Given the description of an element on the screen output the (x, y) to click on. 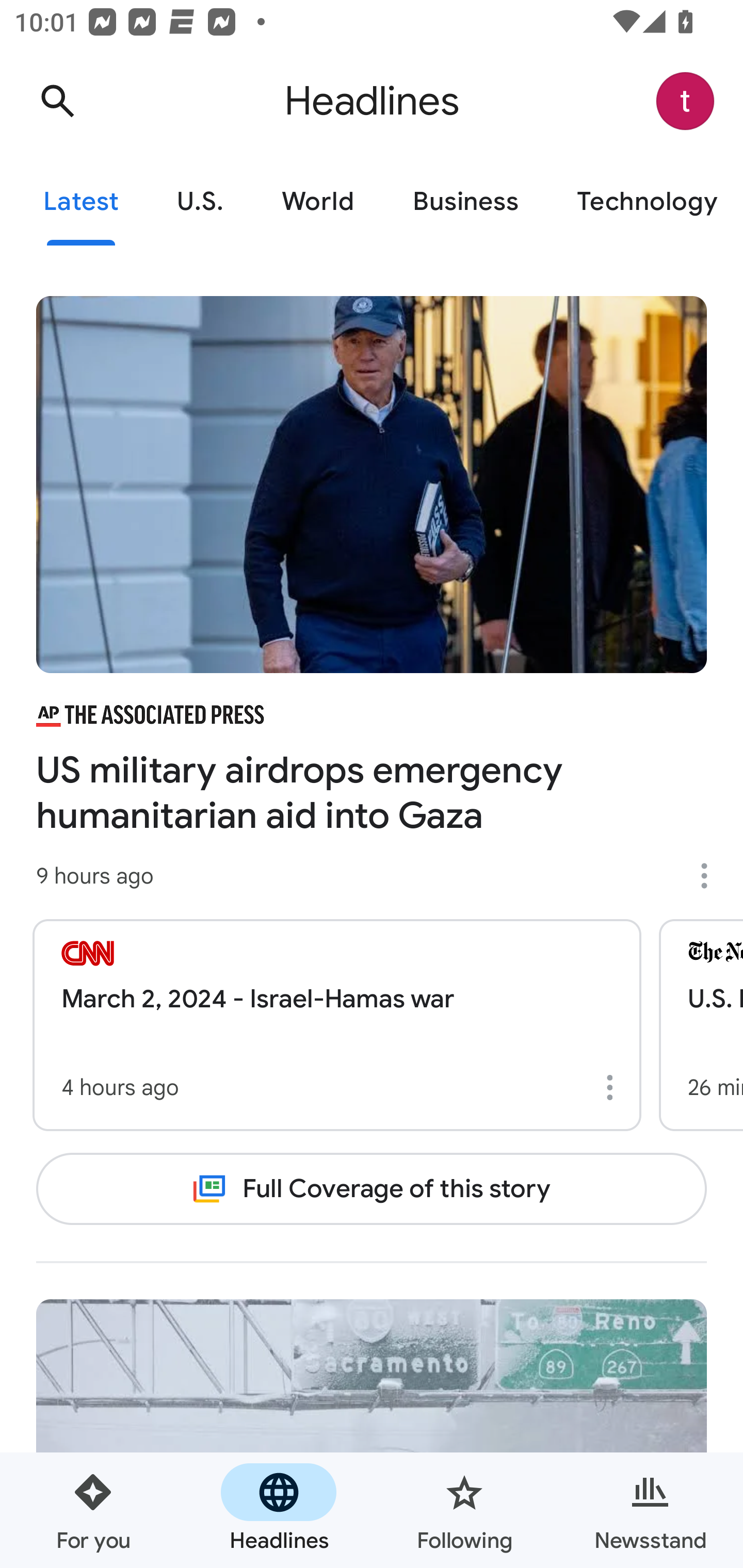
Search (57, 100)
U.S. (199, 202)
World (317, 202)
Business (465, 202)
Technology (645, 202)
More options (711, 875)
More options (613, 1086)
Full Coverage of this story (371, 1188)
For you (92, 1509)
Headlines (278, 1509)
Following (464, 1509)
Newsstand (650, 1509)
